Given the description of an element on the screen output the (x, y) to click on. 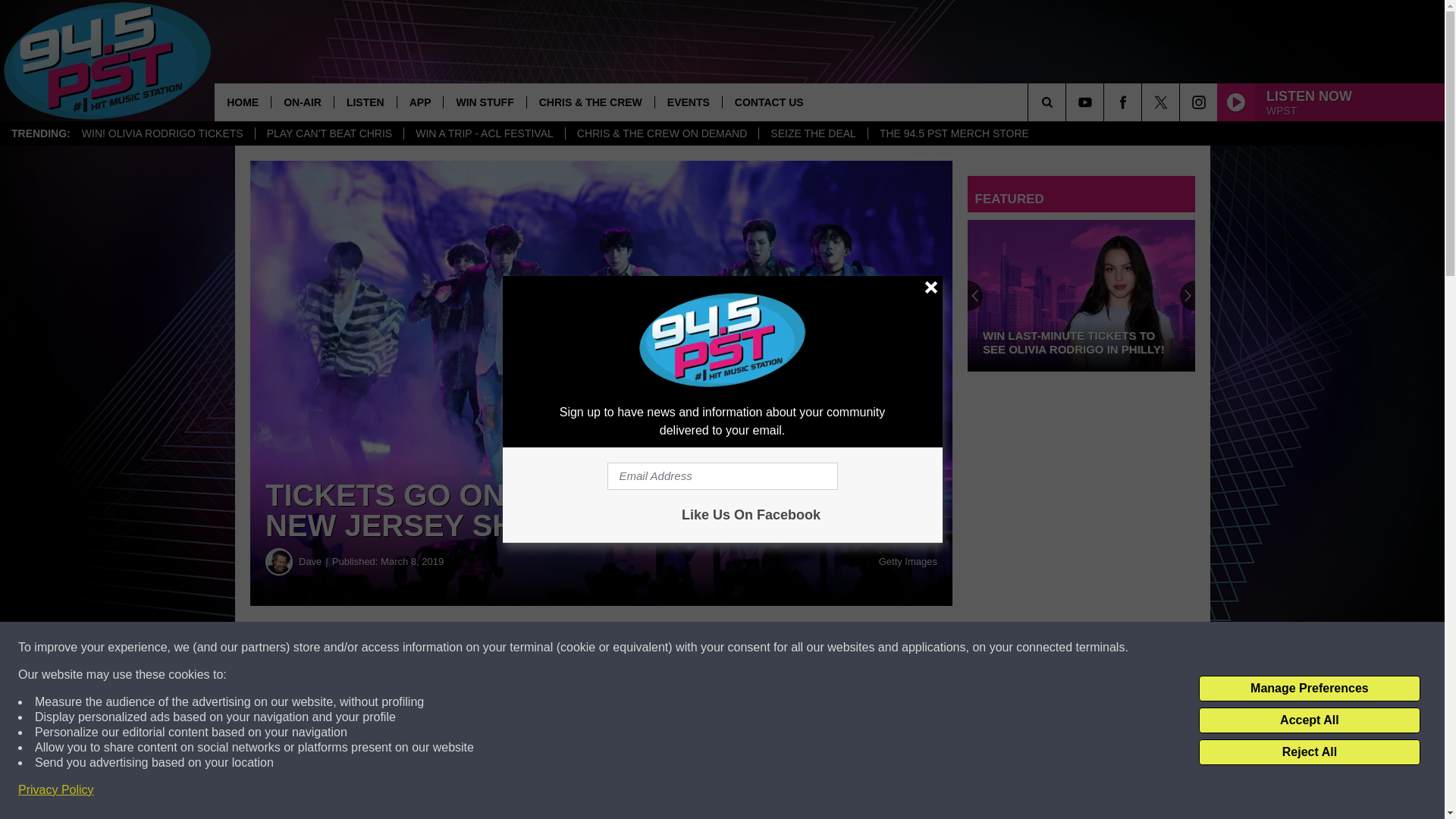
Manage Preferences (1309, 688)
Privacy Policy (55, 789)
Share on Twitter (600, 647)
SEARCH (1068, 102)
LISTEN (364, 102)
Accept All (1309, 720)
HOME (242, 102)
ON-AIR (301, 102)
THE 94.5 PST MERCH STORE (954, 133)
WIN! OLIVIA RODRIGO TICKETS (161, 133)
WIN STUFF (483, 102)
SEARCH (1068, 102)
WIN A TRIP - ACL FESTIVAL (483, 133)
Print this page (787, 647)
APP (420, 102)
